Given the description of an element on the screen output the (x, y) to click on. 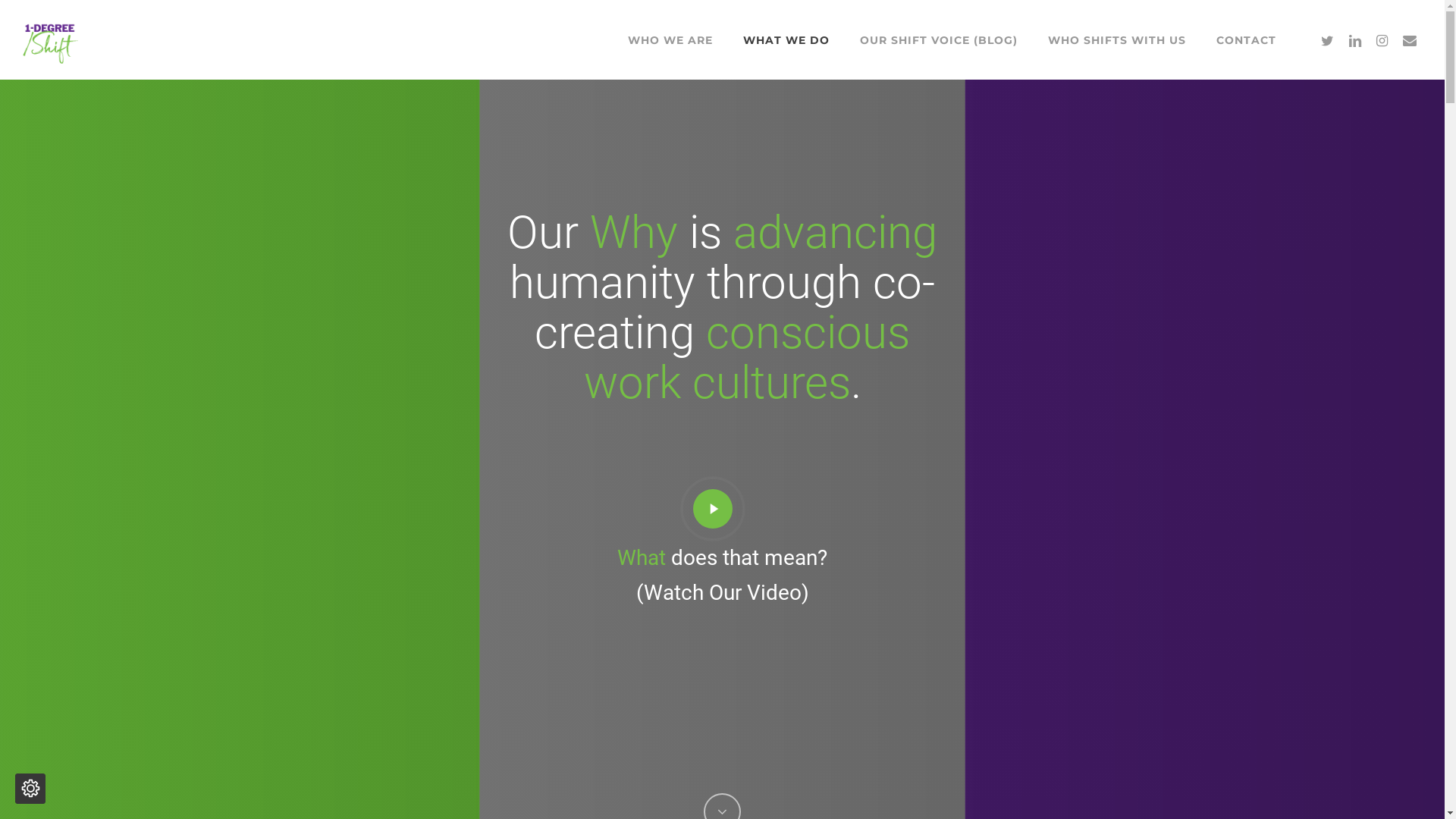
OUR SHIFT VOICE (BLOG) Element type: text (938, 39)
twitter Element type: text (1327, 39)
WHAT WE DO Element type: text (786, 39)
instagram Element type: text (1382, 39)
email Element type: text (1409, 39)
CONTACT Element type: text (1246, 39)
linkedin Element type: text (1354, 39)
WHO SHIFTS WITH US Element type: text (1116, 39)
Play Video Element type: text (722, 507)
WHO WE ARE Element type: text (670, 39)
